Given the description of an element on the screen output the (x, y) to click on. 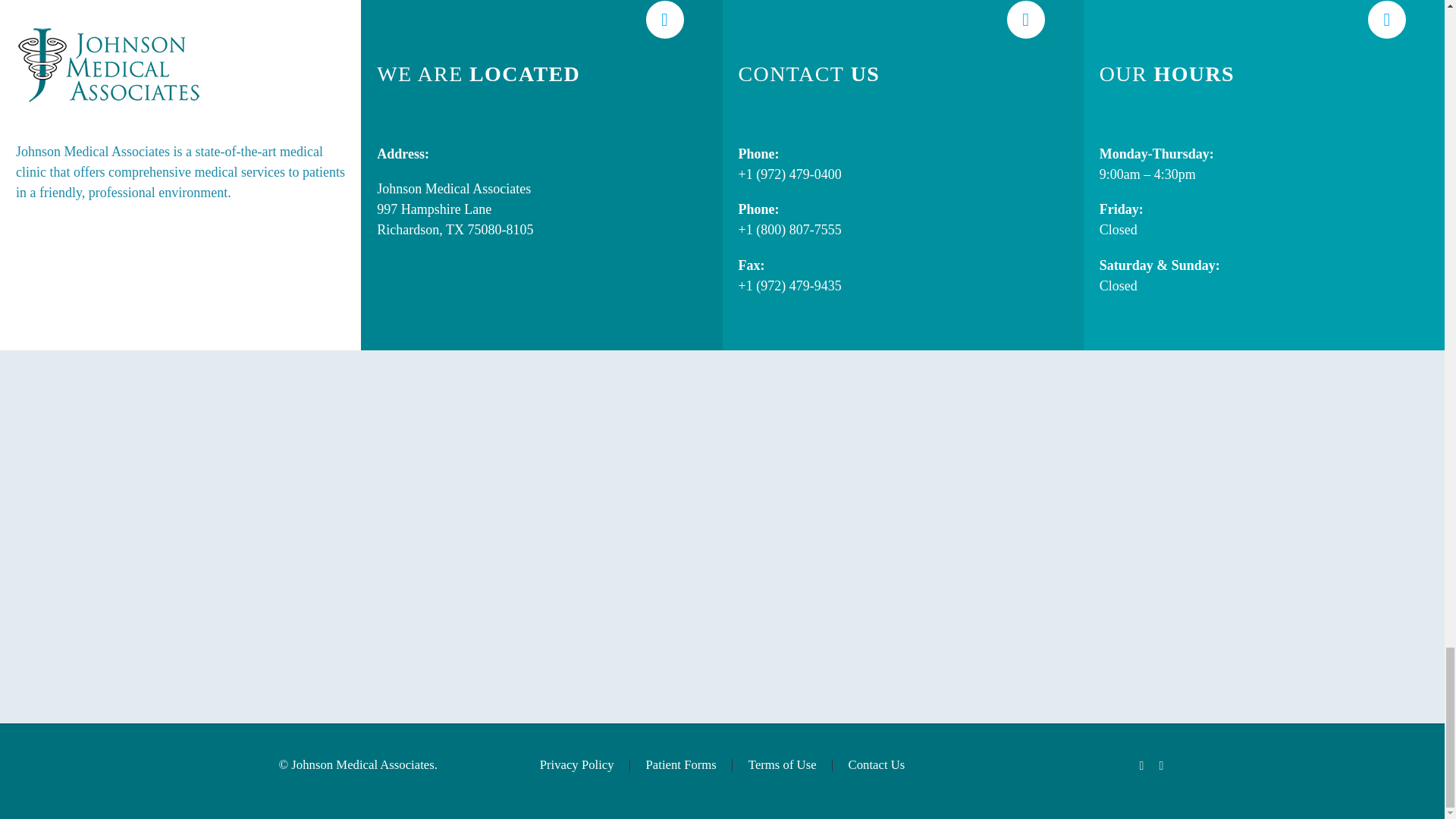
YouTube (1161, 766)
Facebook (1141, 766)
